Given the description of an element on the screen output the (x, y) to click on. 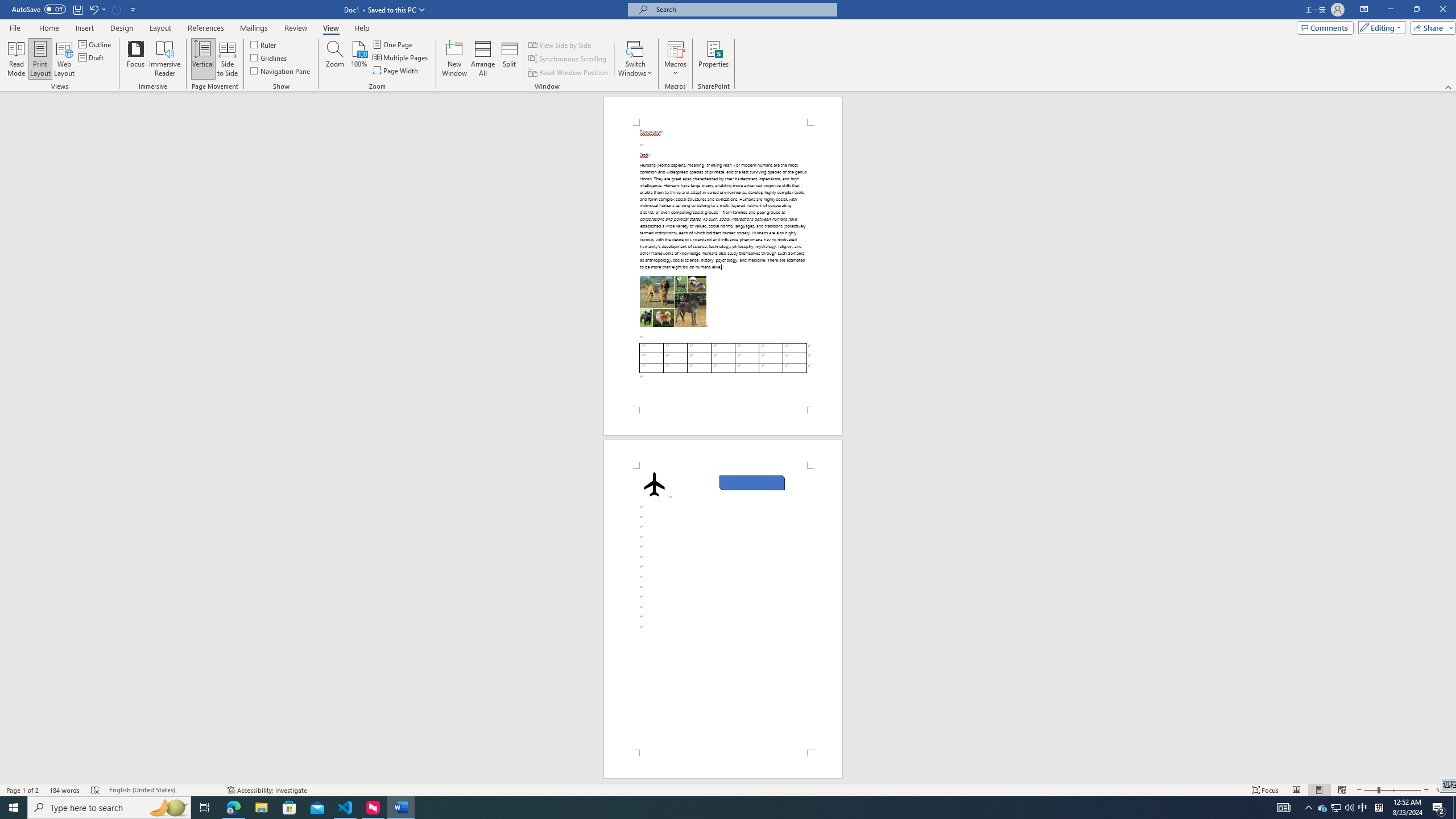
Rectangle: Diagonal Corners Snipped 2 (751, 482)
Language English (United States) (162, 790)
Class: NetUIScrollBar (1450, 437)
Zoom... (334, 58)
Can't Repeat (117, 9)
Properties (713, 58)
Ruler (263, 44)
Zoom (1392, 790)
Morphological variation in six dogs (672, 301)
